Given the description of an element on the screen output the (x, y) to click on. 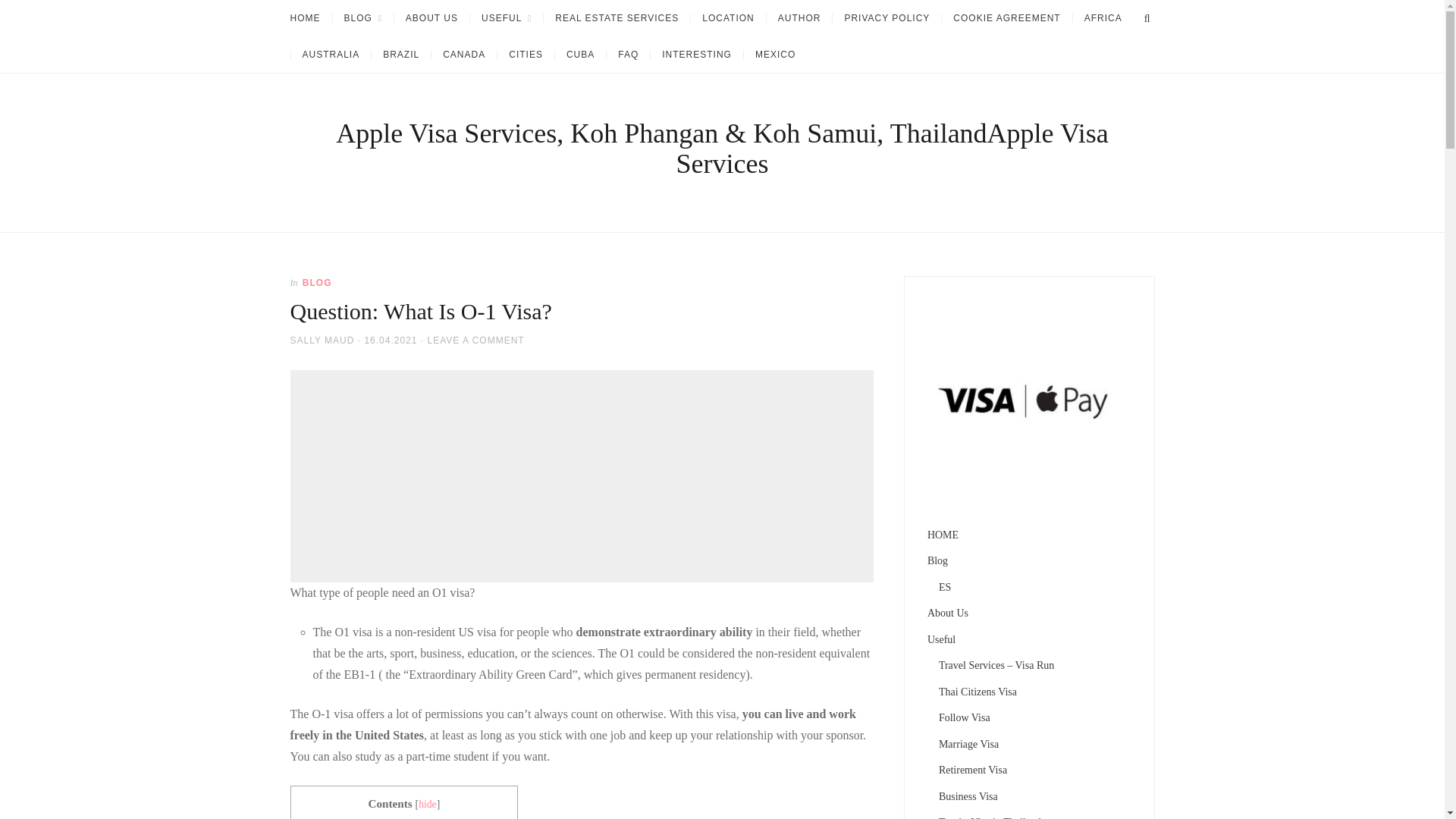
CITIES (525, 53)
BLOG (316, 282)
USEFUL (505, 17)
COOKIE AGREEMENT (1005, 17)
CUBA (579, 53)
BLOG (362, 17)
Advertisement (584, 476)
PRIVACY POLICY (885, 17)
LEAVE A COMMENT (476, 339)
BRAZIL (400, 53)
MEXICO (774, 53)
CANADA (463, 53)
ABOUT US (430, 17)
HOME (310, 17)
FAQ (627, 53)
